Given the description of an element on the screen output the (x, y) to click on. 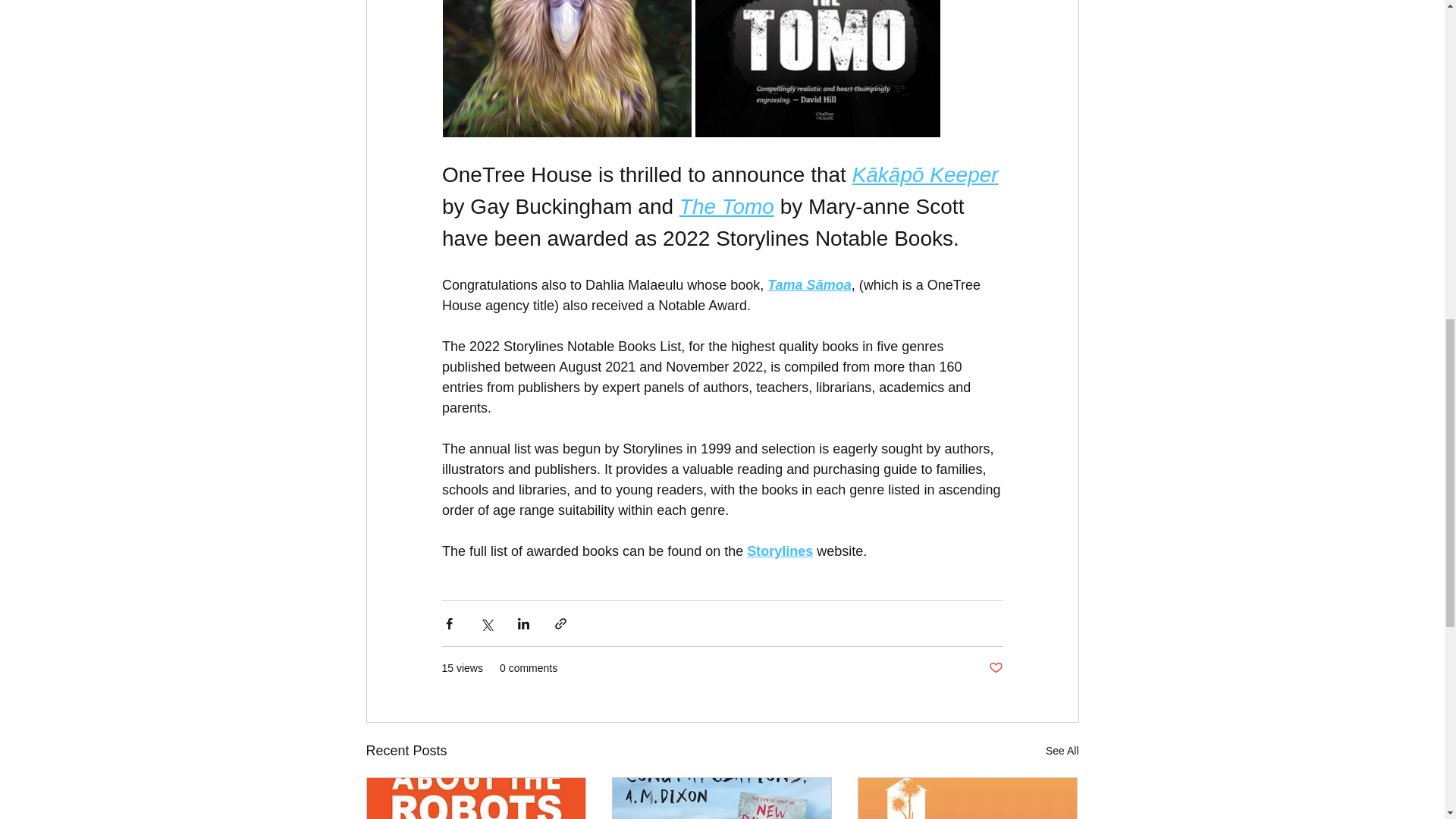
Post not marked as liked (995, 668)
See All (1061, 751)
Storylines (779, 550)
The Tomo (725, 206)
